Given the description of an element on the screen output the (x, y) to click on. 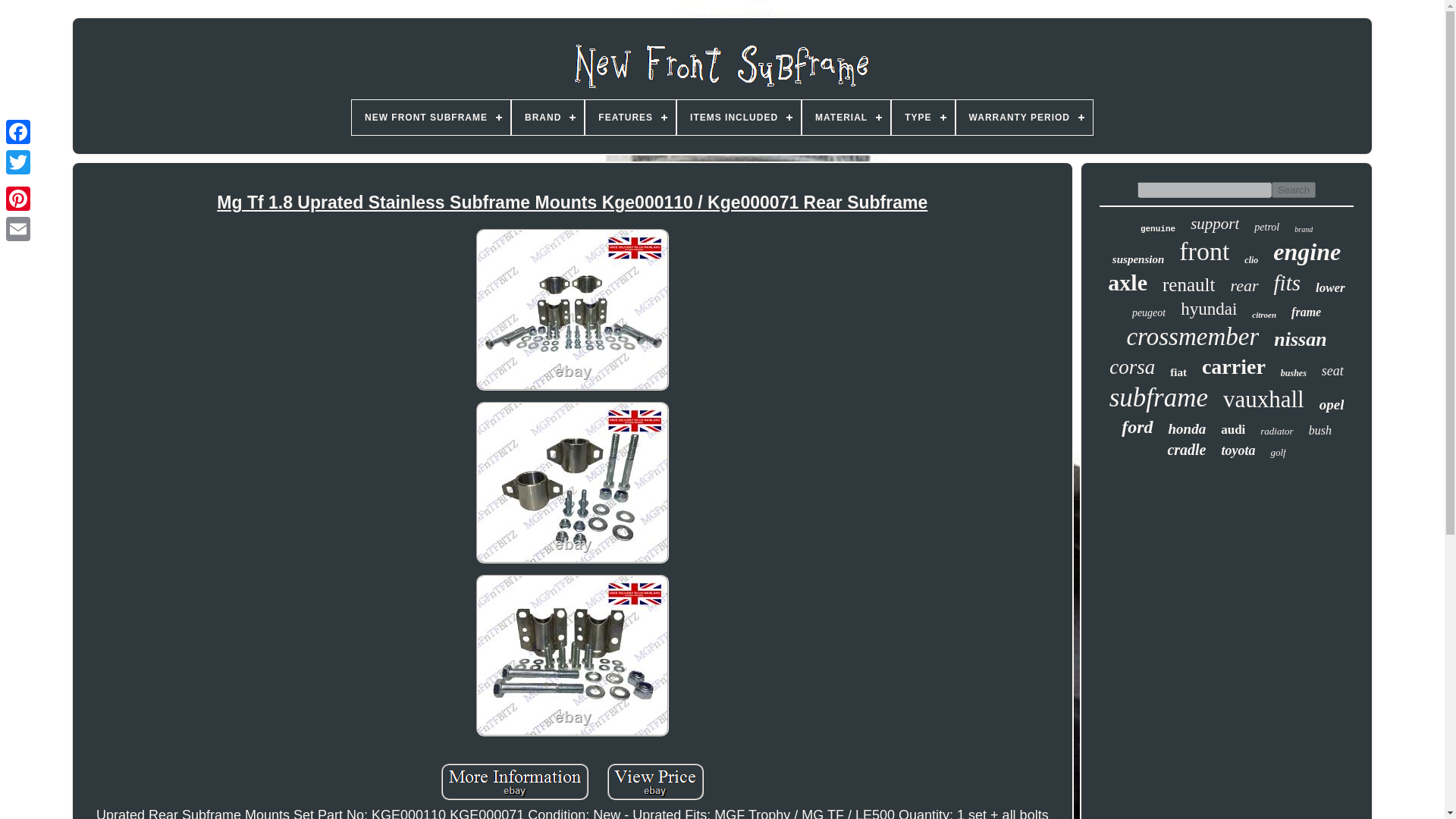
NEW FRONT SUBFRAME (431, 117)
FEATURES (630, 117)
Search (1293, 189)
BRAND (547, 117)
